Given the description of an element on the screen output the (x, y) to click on. 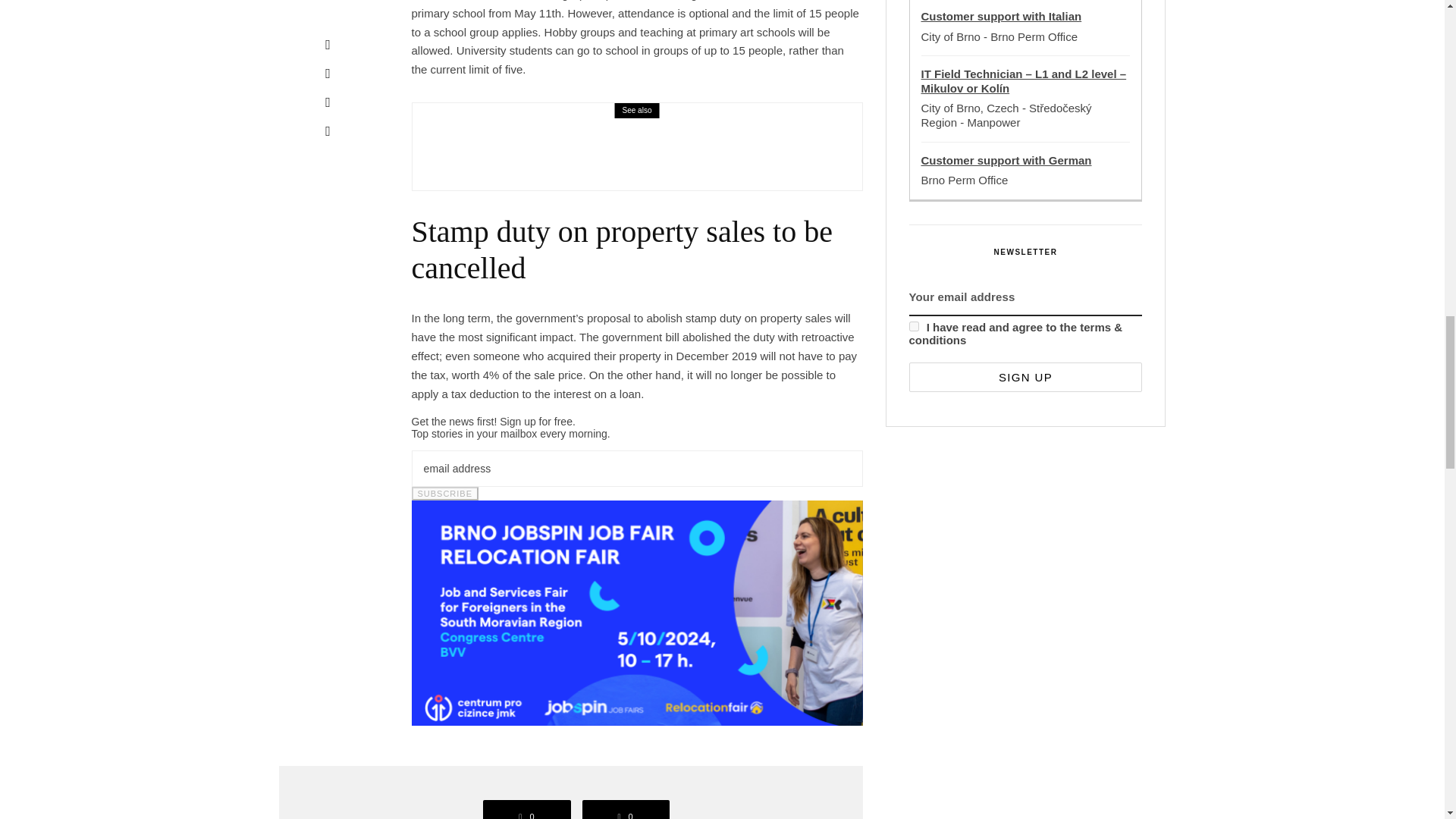
Subscribe (443, 493)
1 (913, 326)
Sign up (1024, 377)
